Given the description of an element on the screen output the (x, y) to click on. 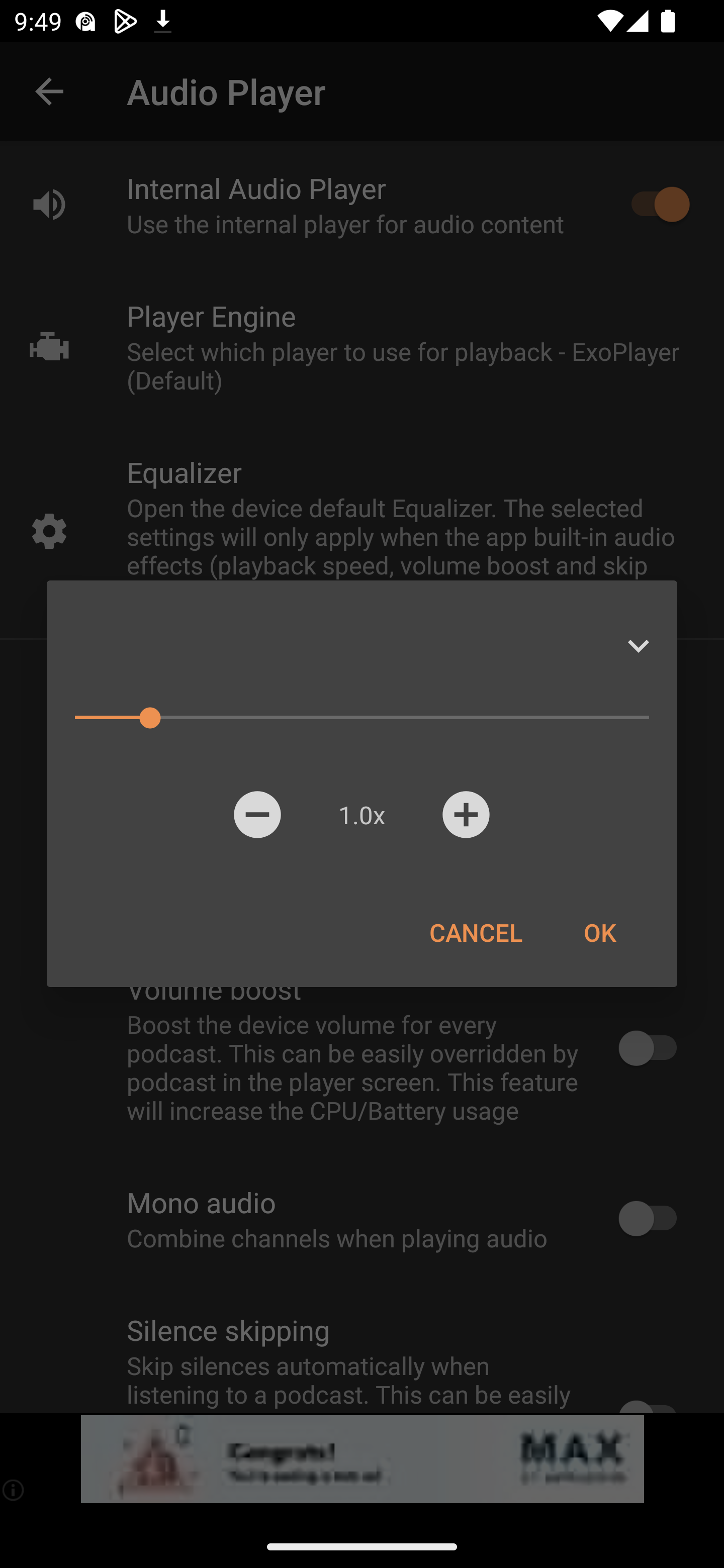
Expand (637, 645)
1.0x (361, 814)
CANCEL (475, 932)
OK (599, 932)
